Given the description of an element on the screen output the (x, y) to click on. 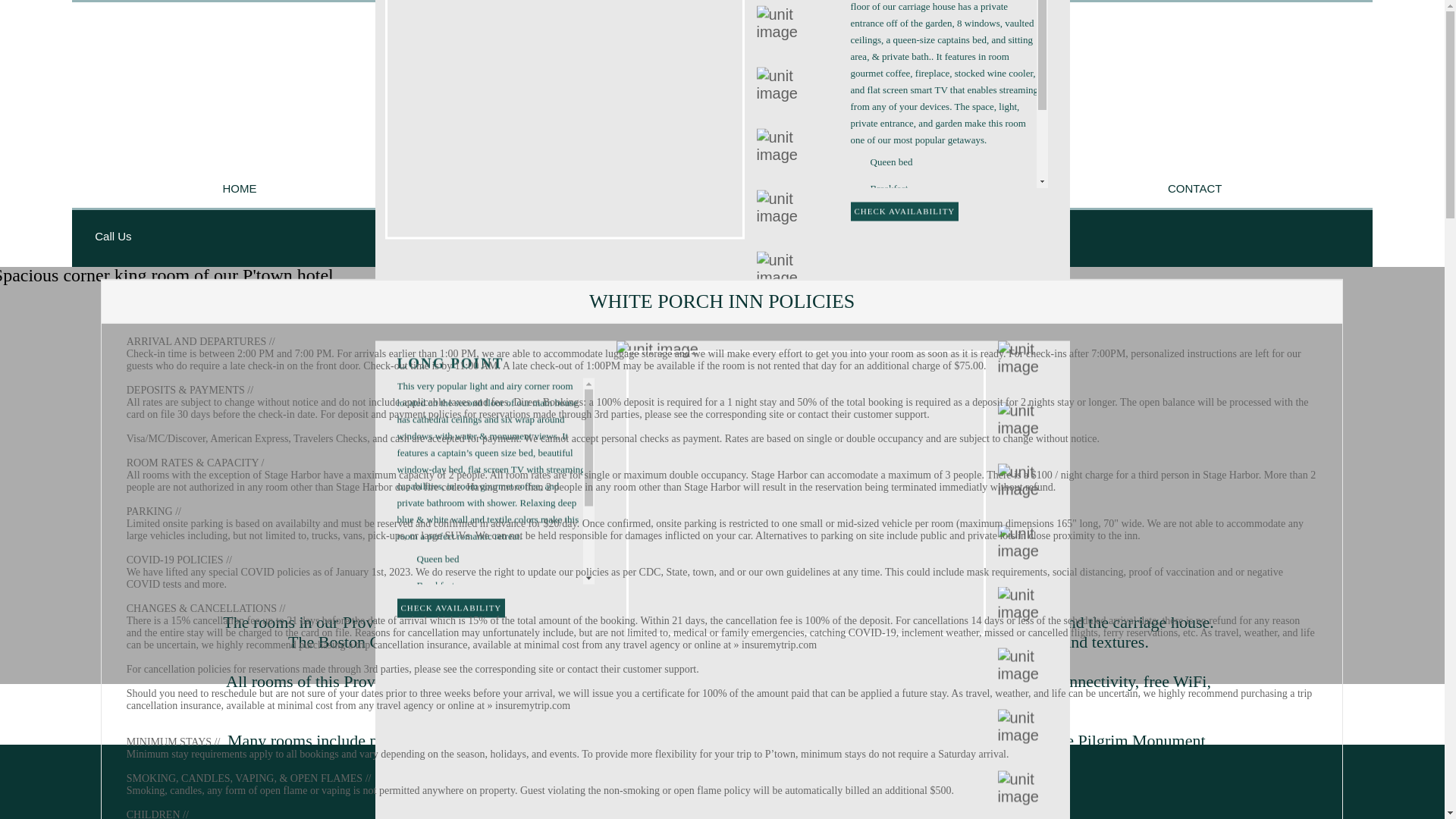
THINGS TO DO (988, 188)
ABOUT (415, 188)
ROOMS (595, 188)
CONTACT (1194, 188)
HOME (239, 188)
GALLERY (781, 188)
